Given the description of an element on the screen output the (x, y) to click on. 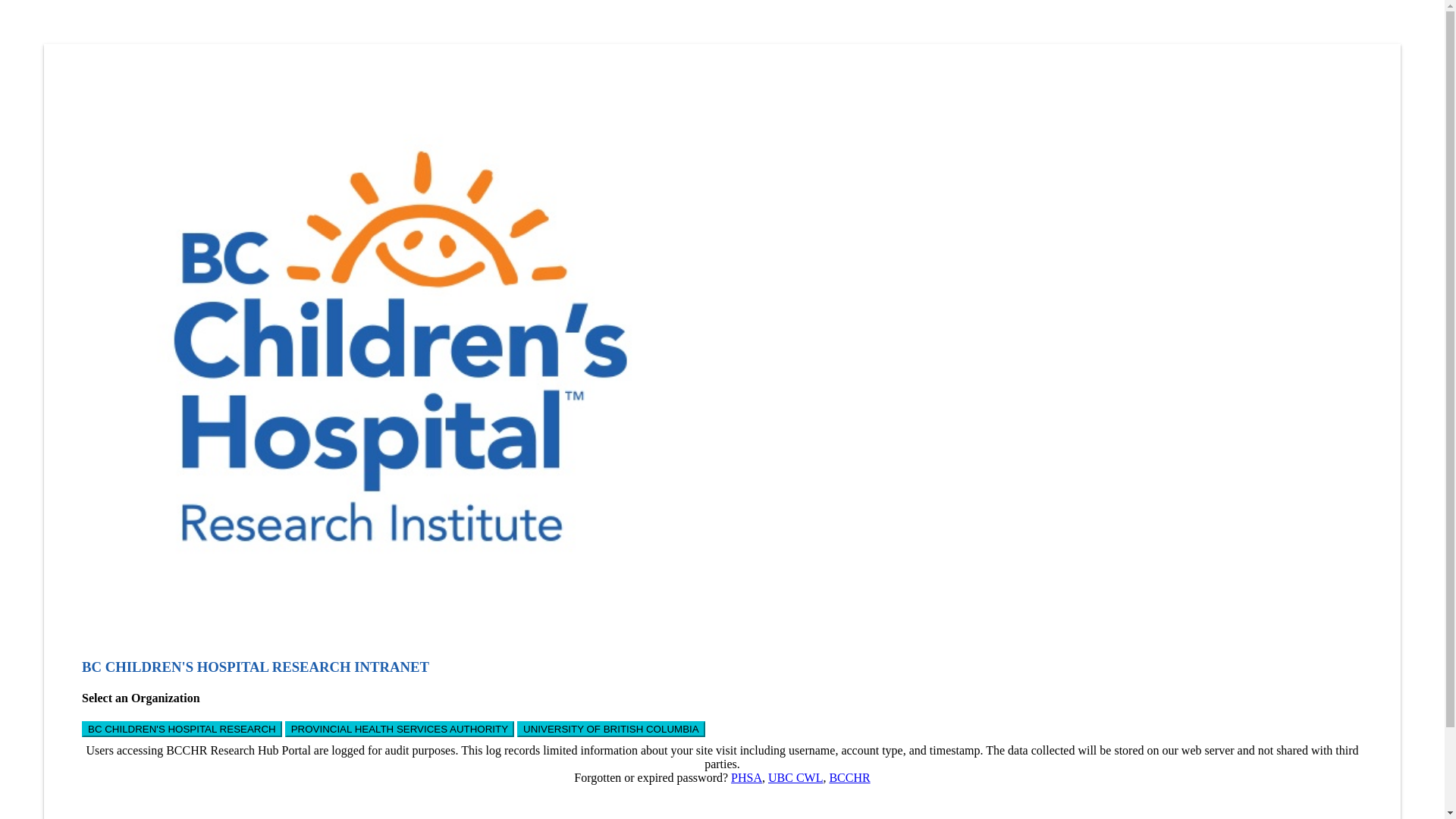
BC CHILDREN'S HOSPITAL RESEARCH Element type: text (181, 729)
PHSA Element type: text (746, 777)
UNIVERSITY OF BRITISH COLUMBIA Element type: text (611, 729)
PROVINCIAL HEALTH SERVICES AUTHORITY Element type: text (399, 729)
BCCHR Element type: text (848, 777)
UBC CWL Element type: text (795, 777)
